Given the description of an element on the screen output the (x, y) to click on. 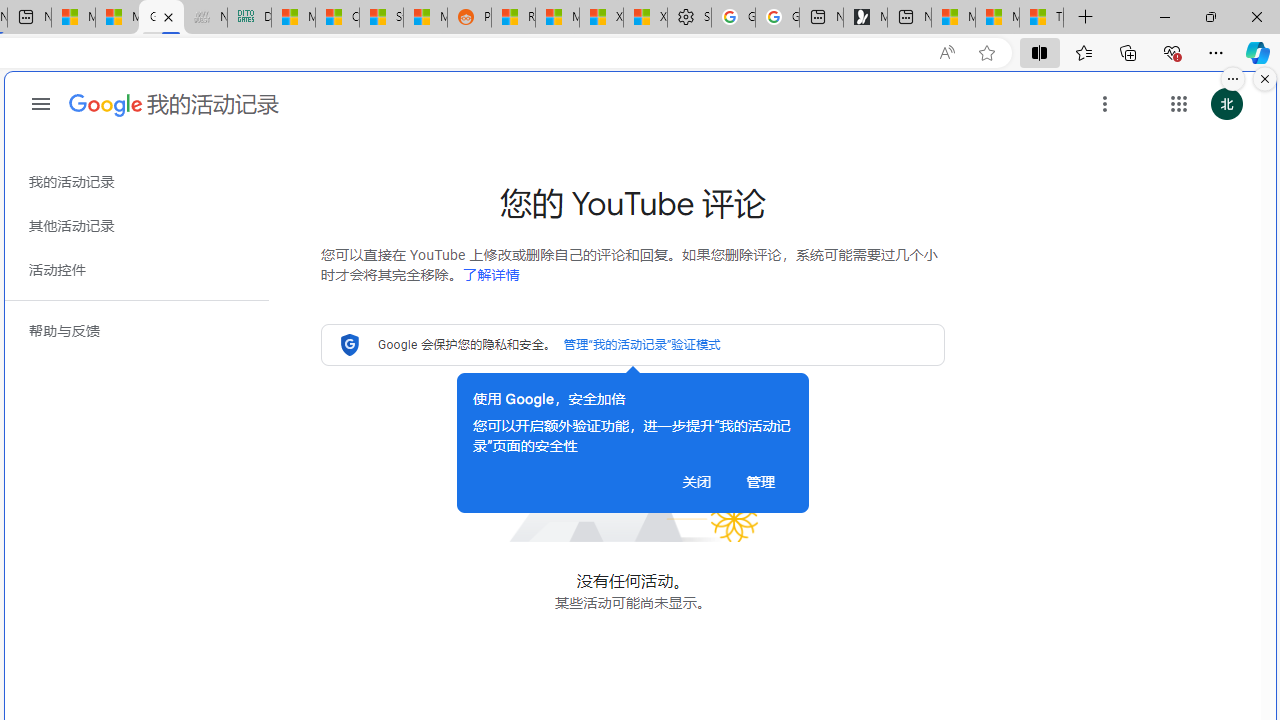
MSN (425, 17)
Restore (1210, 16)
DITOGAMES AG Imprint (249, 17)
Close (1256, 16)
Settings (689, 17)
Stocks - MSN (381, 17)
These 3 Stocks Pay You More Than 5% to Own Them (1041, 17)
R******* | Trusted Community Engagement and Contributions (513, 17)
Minimize (1164, 16)
Class: gb_E (1178, 103)
